Given the description of an element on the screen output the (x, y) to click on. 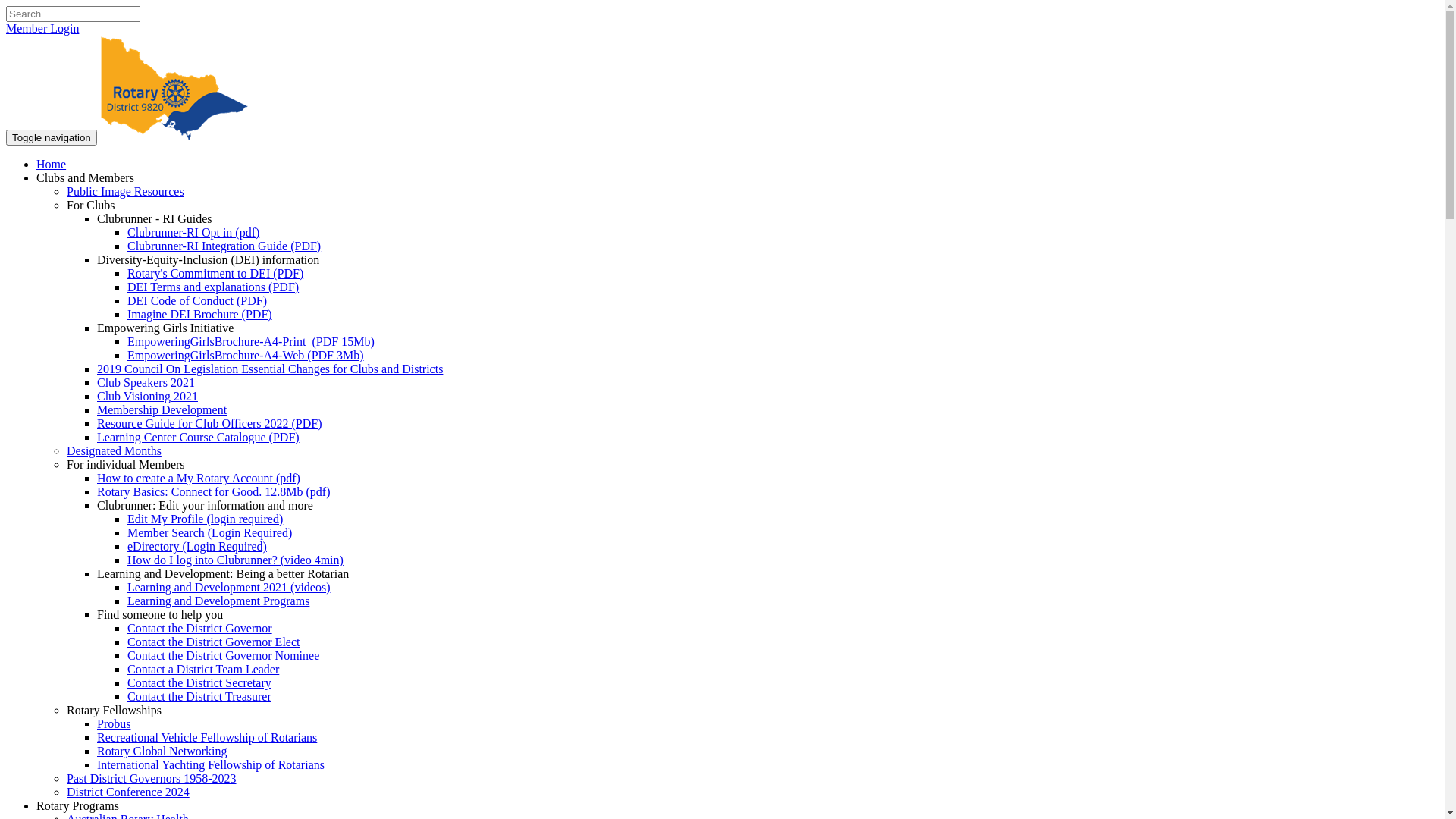
Toggle navigation Element type: text (51, 137)
For Clubs Element type: text (90, 204)
Home Element type: text (50, 163)
Rotary Basics: Connect for Good. 12.8Mb (pdf) Element type: text (213, 491)
Recreational Vehicle Fellowship of Rotarians Element type: text (206, 737)
International Yachting Fellowship of Rotarians Element type: text (210, 764)
Learning and Development 2021 (videos) Element type: text (228, 586)
Contact the District Treasurer Element type: text (199, 696)
Clubrunner-RI Integration Guide (PDF) Element type: text (223, 245)
Membership Development Element type: text (161, 409)
Rotary Global Networking Element type: text (162, 750)
Member Search (Login Required) Element type: text (209, 532)
Contact the District Governor Element type: text (199, 627)
Edit My Profile (login required) Element type: text (204, 518)
Resource Guide for Club Officers 2022 (PDF) Element type: text (209, 423)
Contact the District Governor Elect Element type: text (213, 641)
Empowering Girls Initiative Element type: text (165, 327)
Learning and Development: Being a better Rotarian Element type: text (222, 573)
Club Visioning 2021 Element type: text (147, 395)
Past District Governors 1958-2023 Element type: text (151, 777)
Clubrunner - RI Guides Element type: text (154, 218)
Diversity-Equity-Inclusion (DEI) information Element type: text (208, 259)
Imagine DEI Brochure (PDF) Element type: text (199, 313)
For individual Members Element type: text (125, 464)
Contact the District Secretary Element type: text (199, 682)
Designated Months Element type: text (113, 450)
Probus Element type: text (113, 723)
EmpoweringGirlsBrochure-A4-Web (PDF 3Mb) Element type: text (245, 354)
How do I log into Clubrunner? (video 4min) Element type: text (235, 559)
Contact a District Team Leader Element type: text (203, 668)
Rotary's Commitment to DEI (PDF) Element type: text (215, 272)
DEI Terms and explanations (PDF) Element type: text (212, 286)
Clubs and Members Element type: text (85, 177)
Public Image Resources Element type: text (125, 191)
Rotary Fellowships Element type: text (113, 709)
Rotary Programs Element type: text (77, 805)
Clubrunner: Edit your information and more Element type: text (205, 504)
Learning and Development Programs Element type: text (218, 600)
Contact the District Governor Nominee Element type: text (223, 655)
EmpoweringGirlsBrochure-A4-Print_(PDF 15Mb) Element type: text (250, 341)
Club Speakers 2021 Element type: text (145, 382)
Find someone to help you Element type: text (159, 614)
eDirectory (Login Required) Element type: text (196, 545)
Clubrunner-RI Opt in (pdf) Element type: text (193, 231)
How to create a My Rotary Account (pdf) Element type: text (198, 477)
Learning Center Course Catalogue (PDF) Element type: text (198, 436)
Member Login Element type: text (42, 27)
District Conference 2024 Element type: text (127, 791)
DEI Code of Conduct (PDF) Element type: text (196, 300)
